Given the description of an element on the screen output the (x, y) to click on. 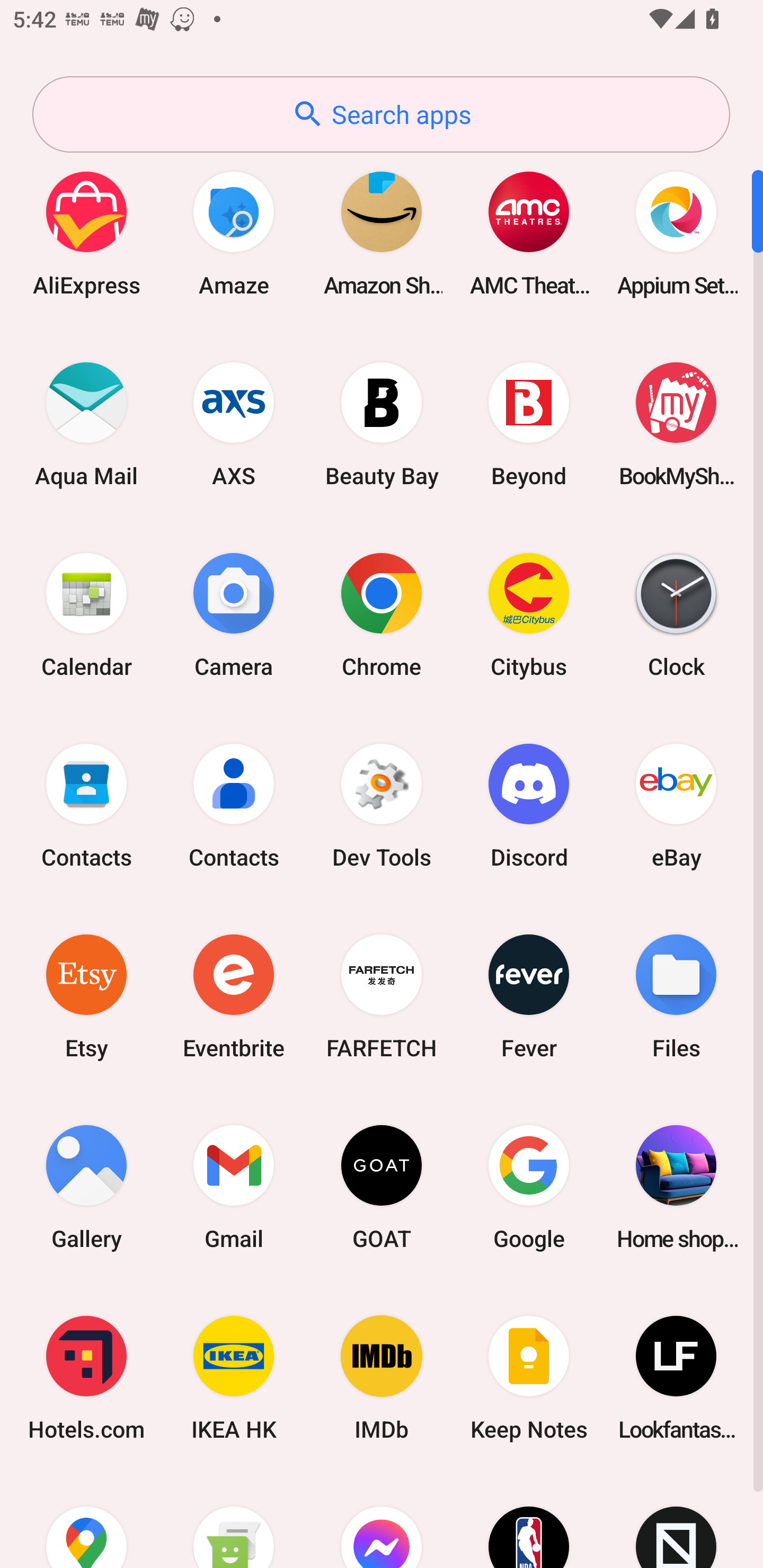
  Search apps (381, 114)
AliExpress (86, 233)
Amaze (233, 233)
Amazon Shopping (381, 233)
AMC Theatres (528, 233)
Appium Settings (676, 233)
Aqua Mail (86, 424)
AXS (233, 424)
Beauty Bay (381, 424)
Beyond (528, 424)
BookMyShow (676, 424)
Calendar (86, 614)
Camera (233, 614)
Chrome (381, 614)
Citybus (528, 614)
Clock (676, 614)
Contacts (86, 805)
Contacts (233, 805)
Dev Tools (381, 805)
Discord (528, 805)
eBay (676, 805)
Etsy (86, 996)
Eventbrite (233, 996)
FARFETCH (381, 996)
Fever (528, 996)
Files (676, 996)
Gallery (86, 1186)
Gmail (233, 1186)
GOAT (381, 1186)
Google (528, 1186)
Home shopping (676, 1186)
Hotels.com (86, 1377)
IKEA HK (233, 1377)
IMDb (381, 1377)
Keep Notes (528, 1377)
Lookfantastic (676, 1377)
Maps (86, 1520)
Messaging (233, 1520)
Messenger (381, 1520)
NBA (528, 1520)
Novelship (676, 1520)
